Given the description of an element on the screen output the (x, y) to click on. 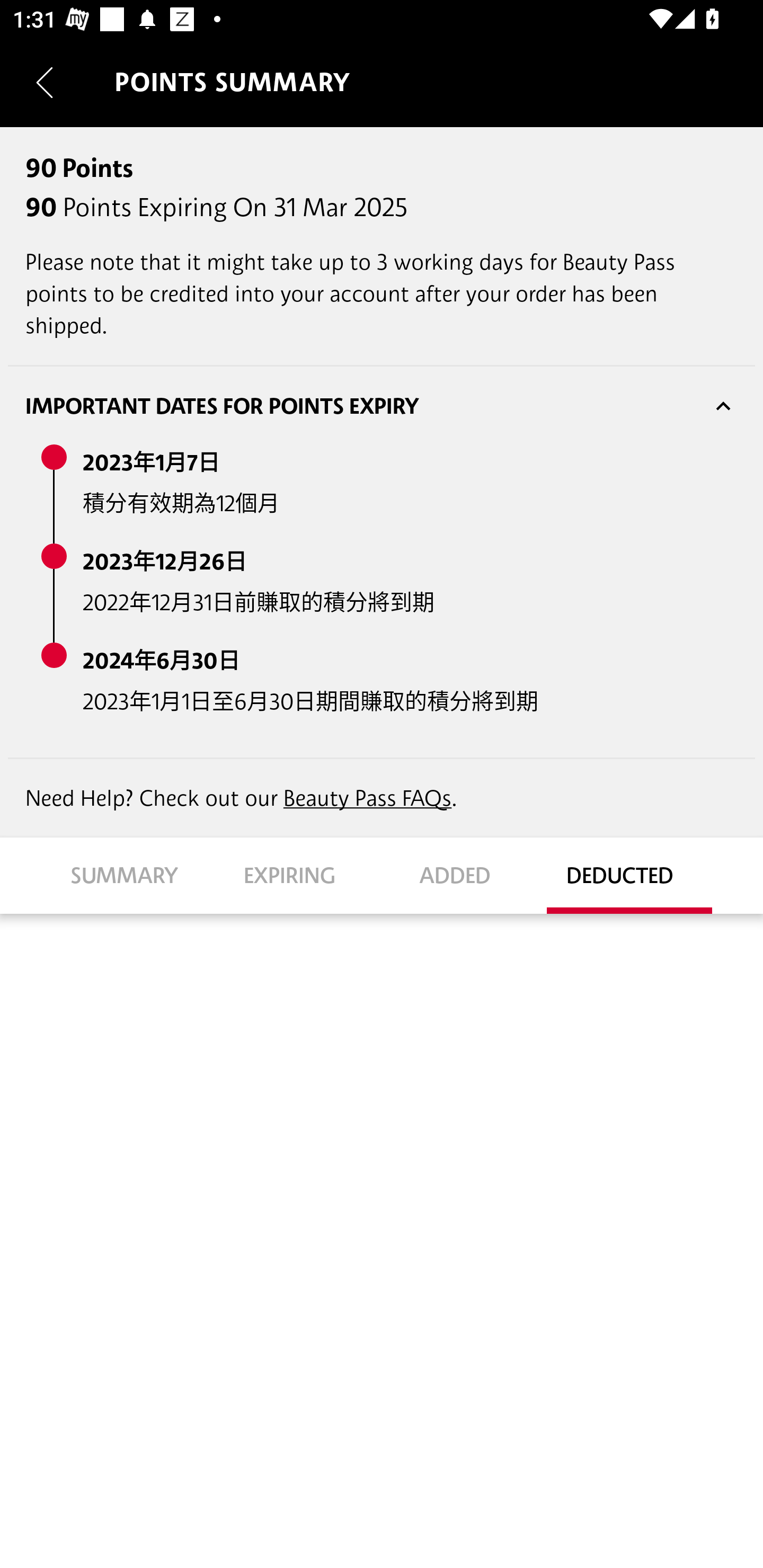
Navigate up (44, 82)
IMPORTANT DATES FOR POINTS EXPIRY (381, 406)
SUMMARY (133, 875)
EXPIRING (298, 875)
ADDED (464, 875)
